Given the description of an element on the screen output the (x, y) to click on. 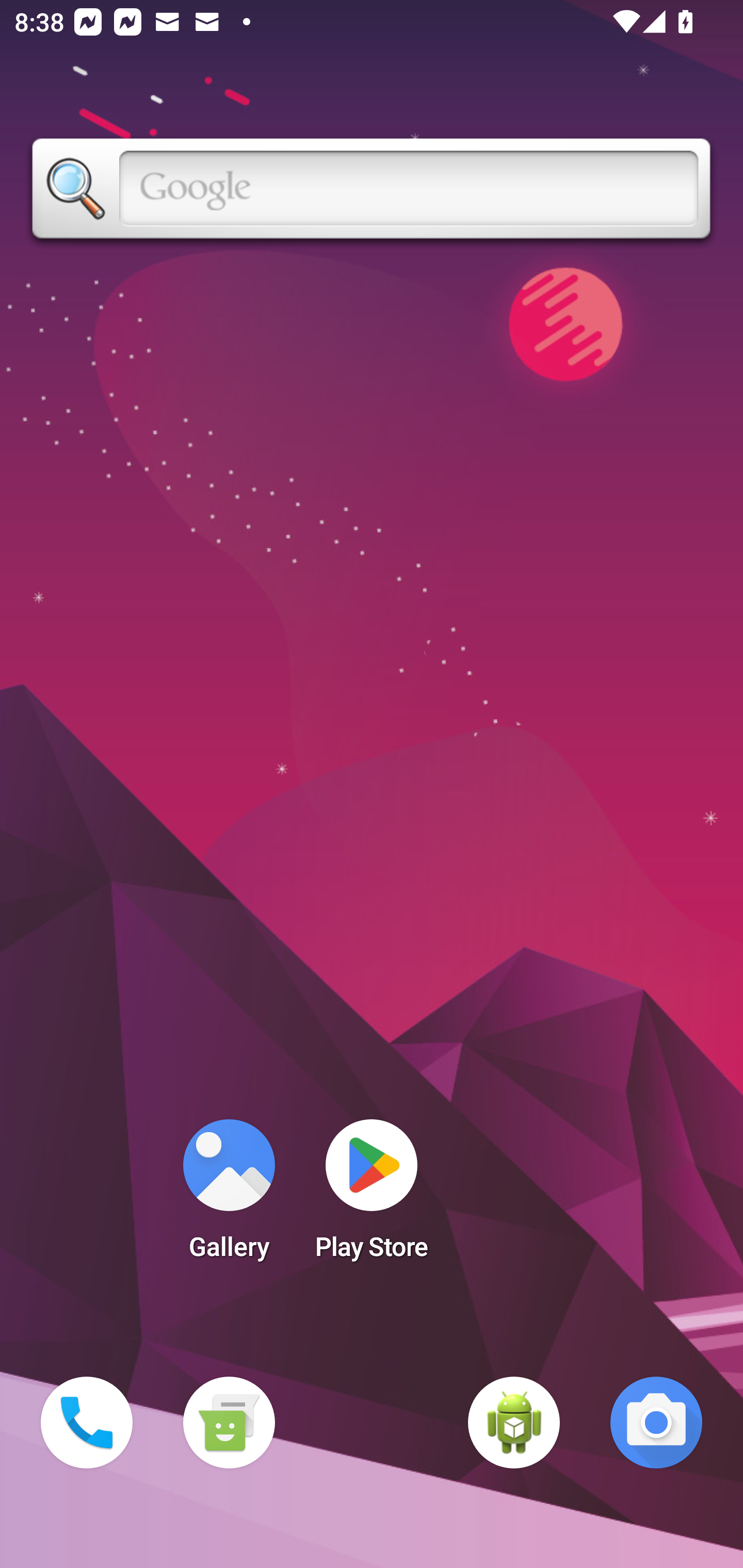
Gallery (228, 1195)
Play Store (371, 1195)
Phone (86, 1422)
Messaging (228, 1422)
WebView Browser Tester (513, 1422)
Camera (656, 1422)
